Given the description of an element on the screen output the (x, y) to click on. 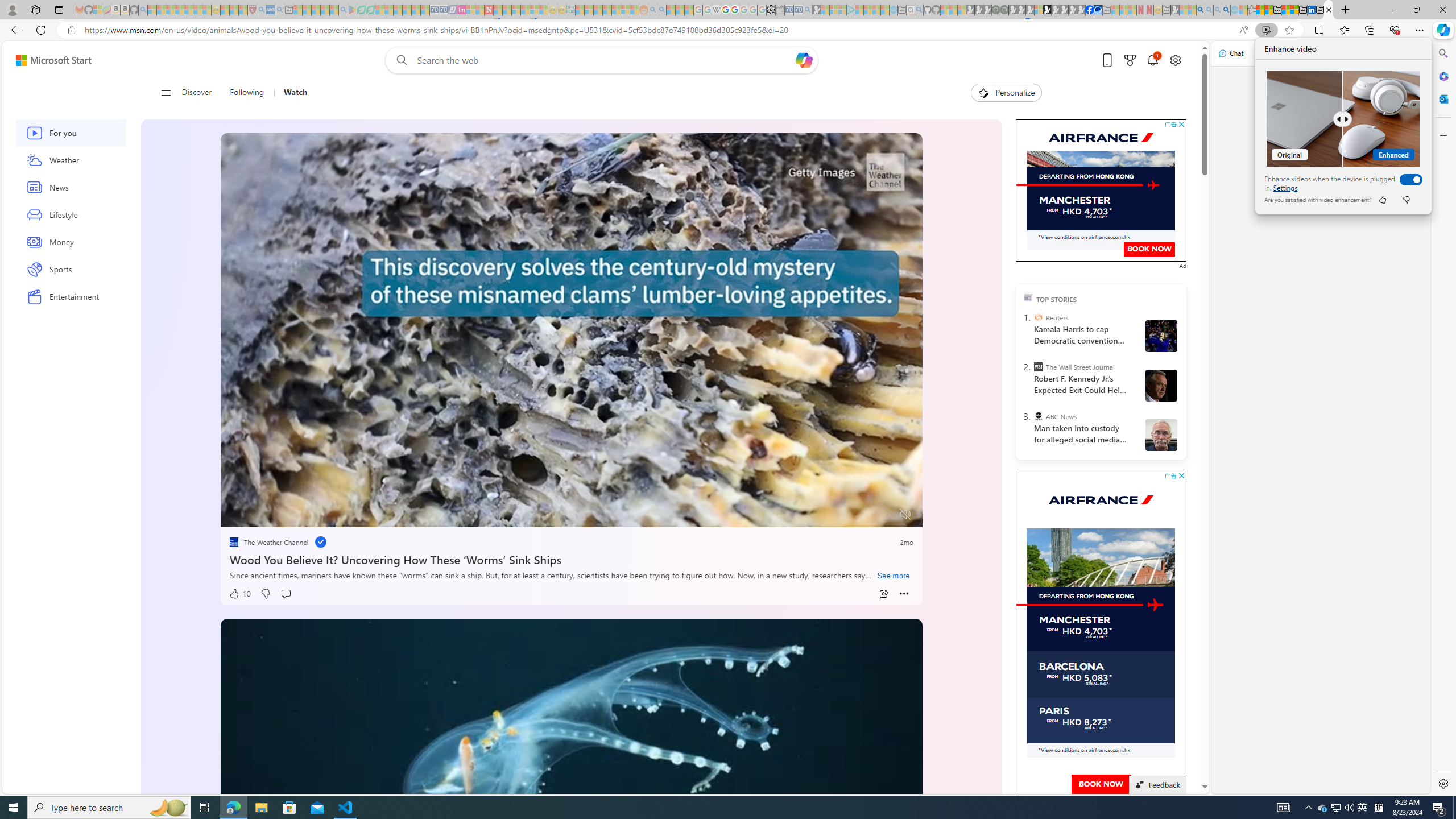
Action Center, 2 new notifications (1439, 807)
Fullscreen (883, 514)
Comparision (1342, 118)
Progress Bar (571, 500)
Seek Forward (283, 514)
